Given the description of an element on the screen output the (x, y) to click on. 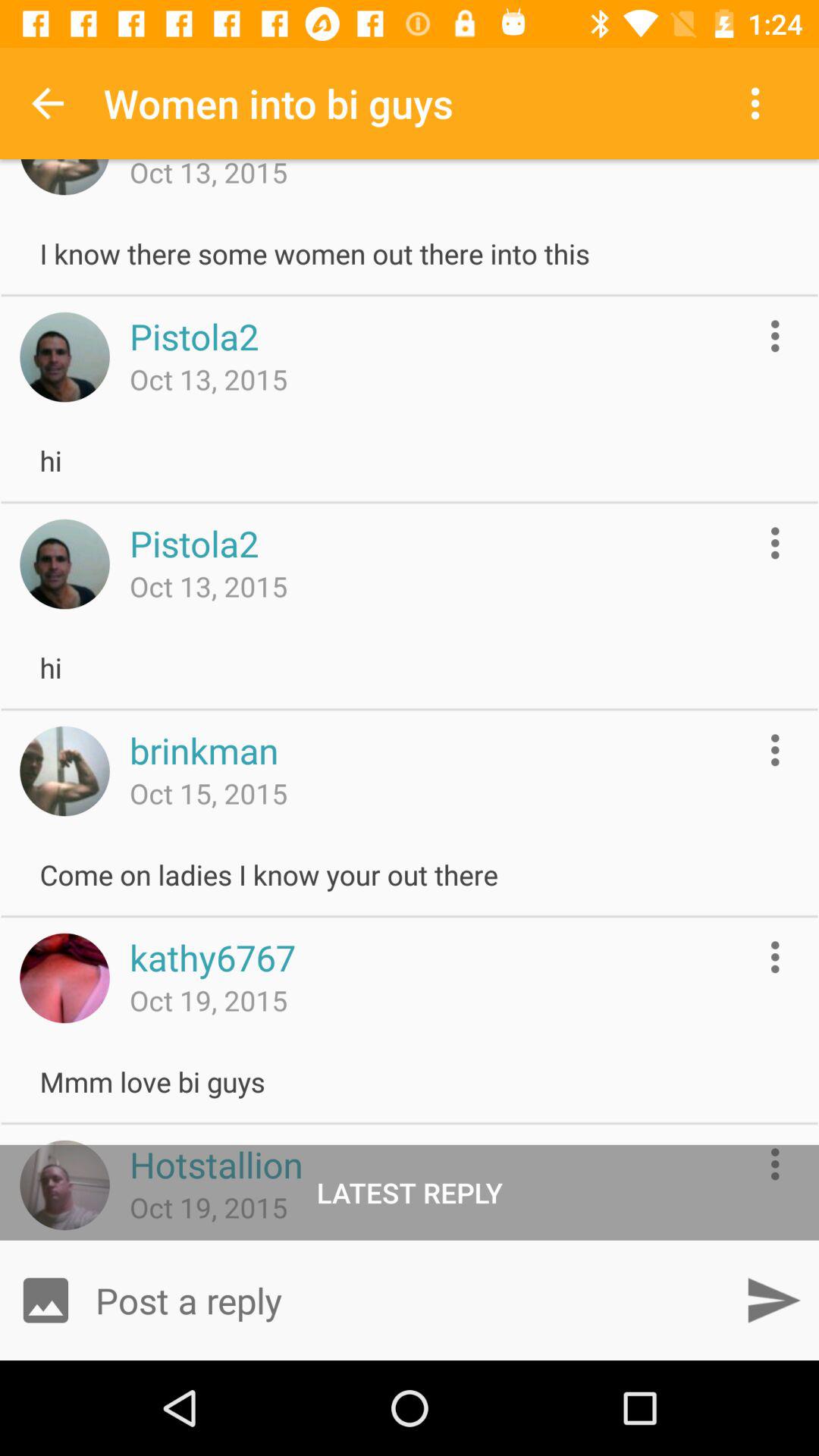
turn on item next to women into bi icon (759, 103)
